Given the description of an element on the screen output the (x, y) to click on. 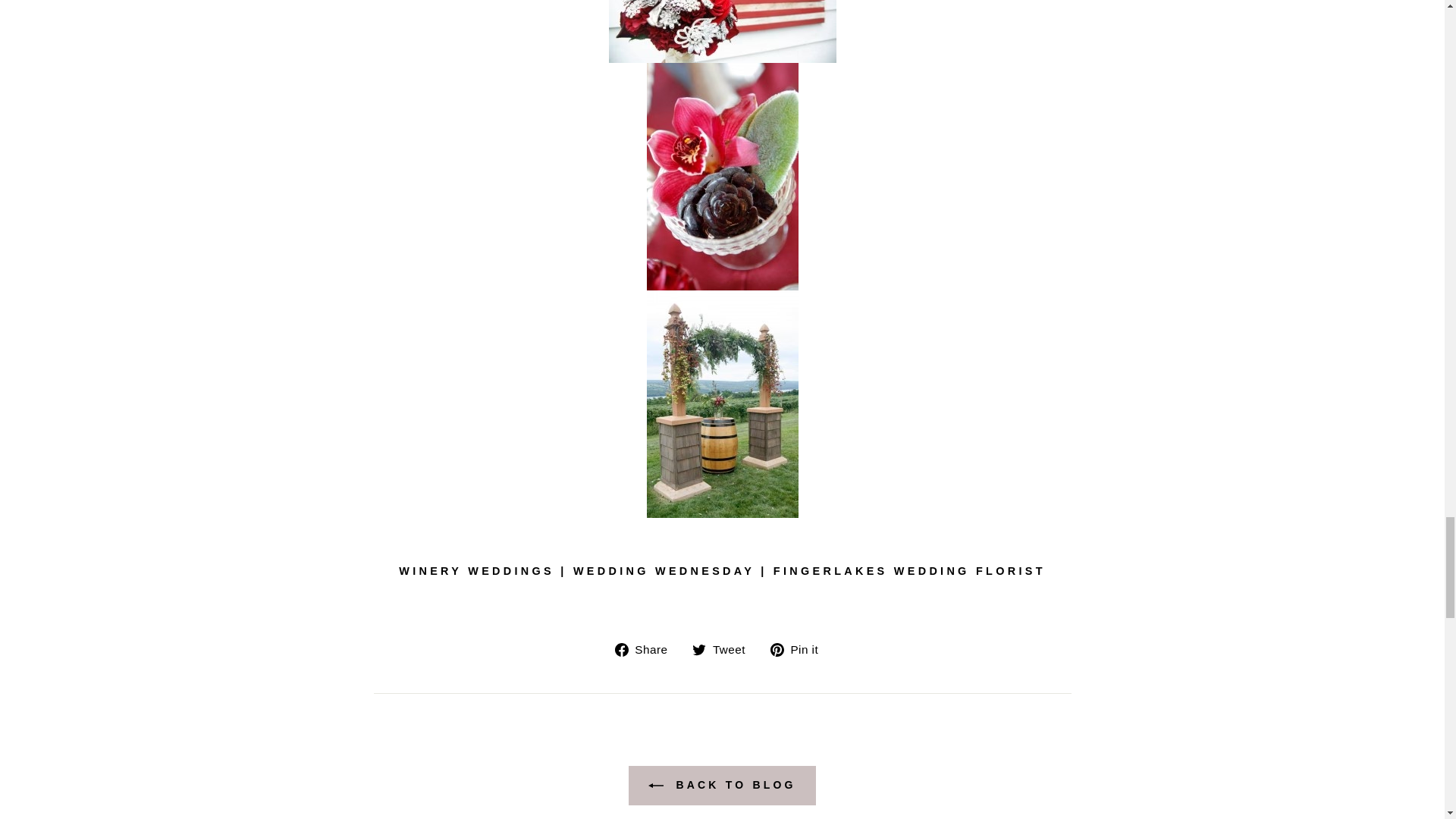
twitter (699, 649)
Share on Facebook (646, 649)
Tweet on Twitter (725, 649)
ICON-LEFT-ARROW (655, 785)
Pin on Pinterest (799, 649)
